Given the description of an element on the screen output the (x, y) to click on. 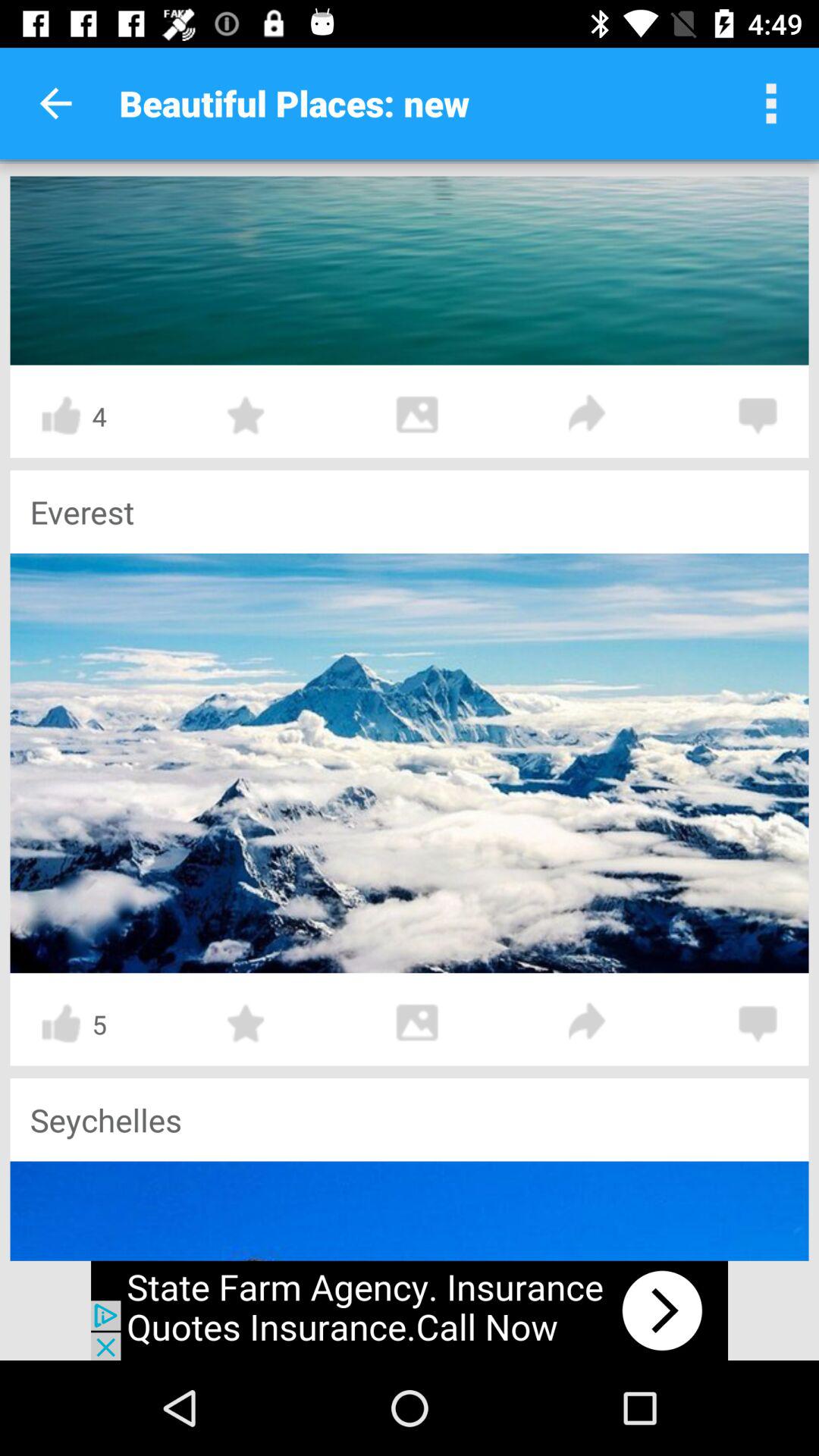
list button (771, 103)
